Given the description of an element on the screen output the (x, y) to click on. 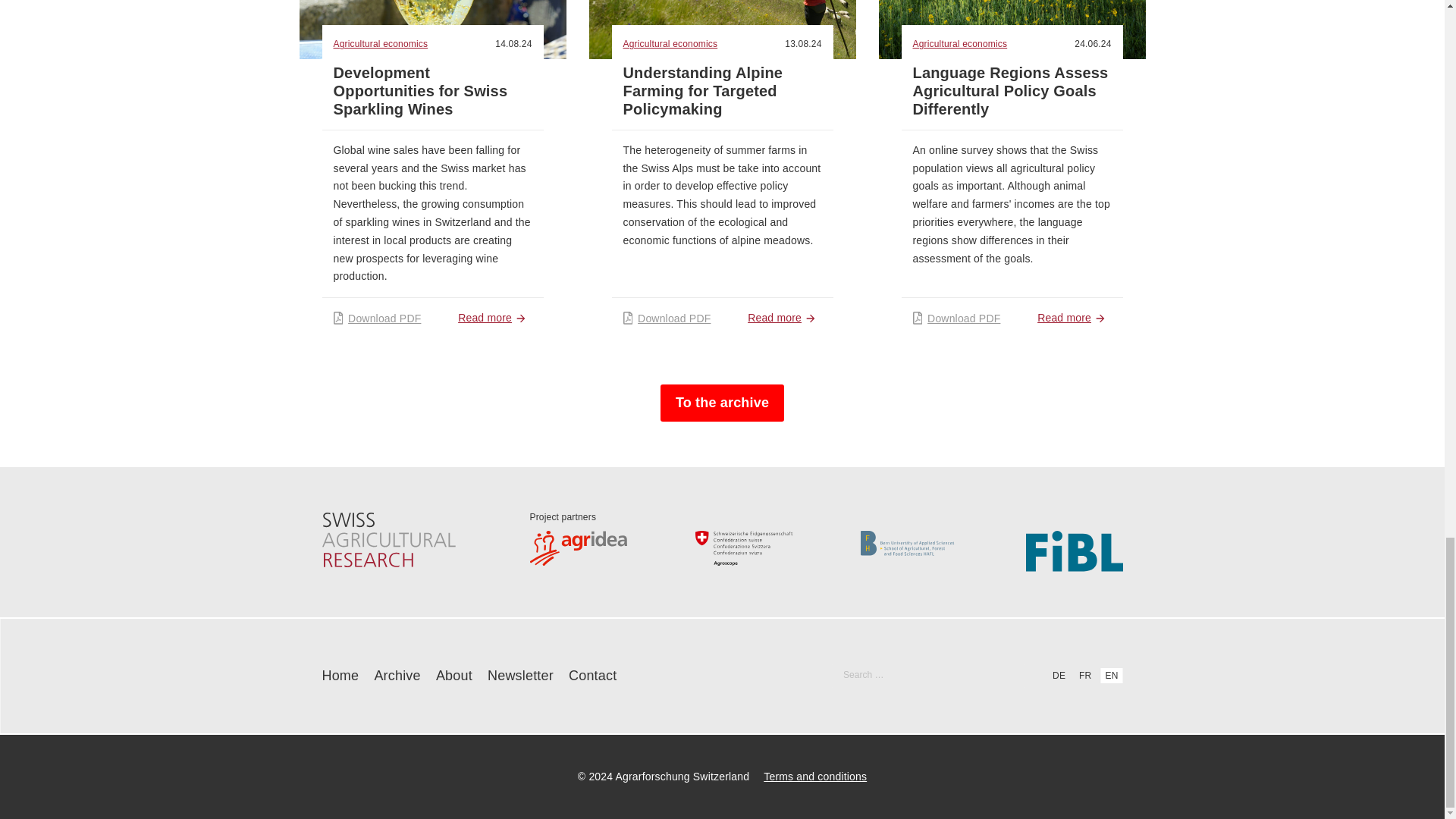
14.08.24 (513, 43)
Read more (494, 318)
Agricultural economics (382, 43)
Read articles from 2024 (513, 43)
Download PDF (667, 318)
Development Opportunities for Swiss Sparkling Wines (420, 90)
Download PDF (377, 318)
Agricultural economics (672, 43)
Agricultural economics (961, 43)
Read articles from the Agricultural economics category (382, 43)
